Given the description of an element on the screen output the (x, y) to click on. 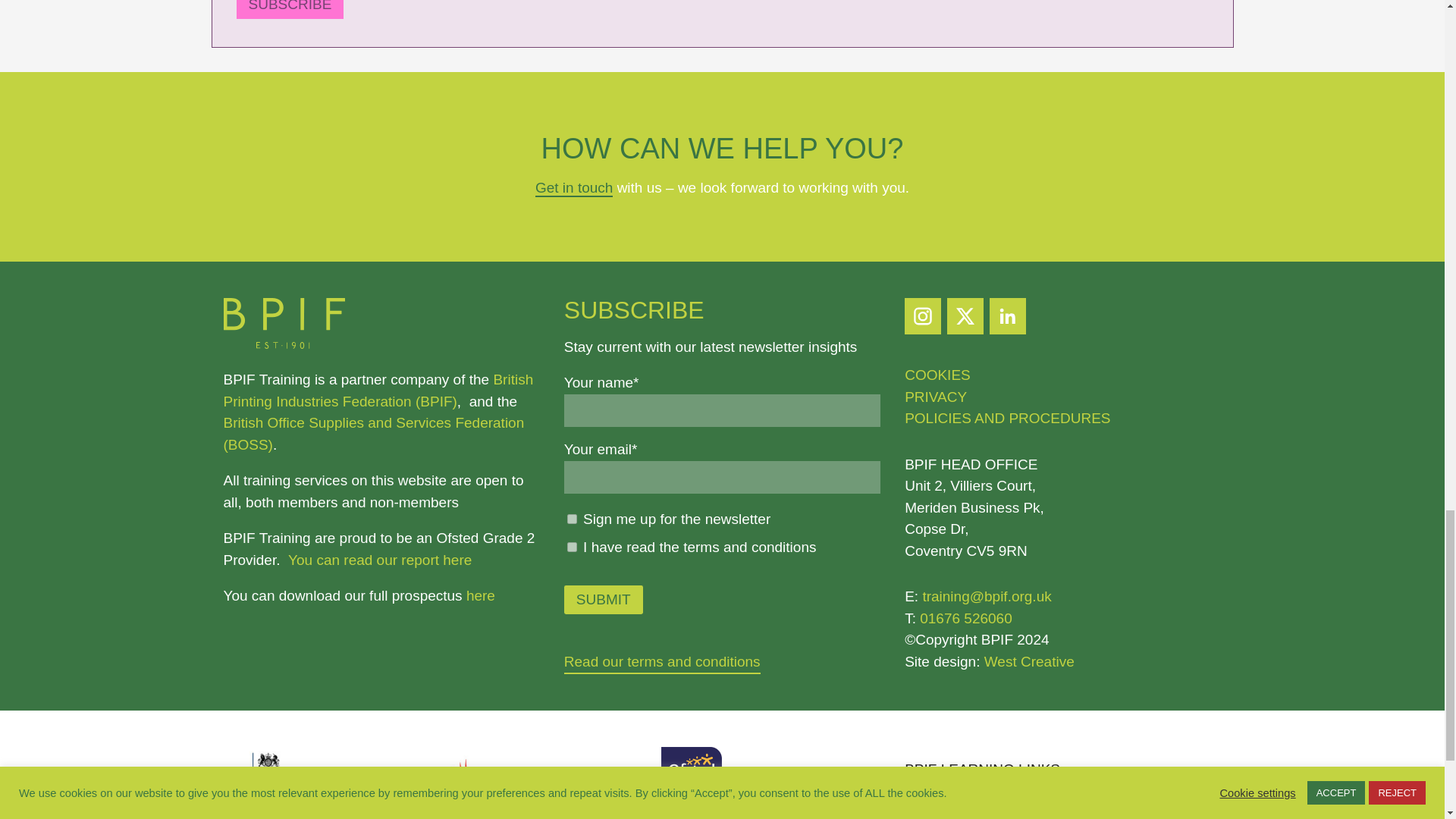
POLICIES AND PROCEDURES (1006, 417)
COOKIES (937, 374)
1 (571, 546)
Sign me up for the newsletter (571, 519)
Get in touch (573, 188)
Submit (603, 599)
Submit (603, 599)
You can read our report here (379, 560)
here (480, 595)
01676 526060 (965, 618)
Read our terms and conditions (662, 662)
SUBSCRIBE (289, 9)
Get in touch (573, 188)
BPIF Training (282, 343)
PRIVACY (935, 396)
